Given the description of an element on the screen output the (x, y) to click on. 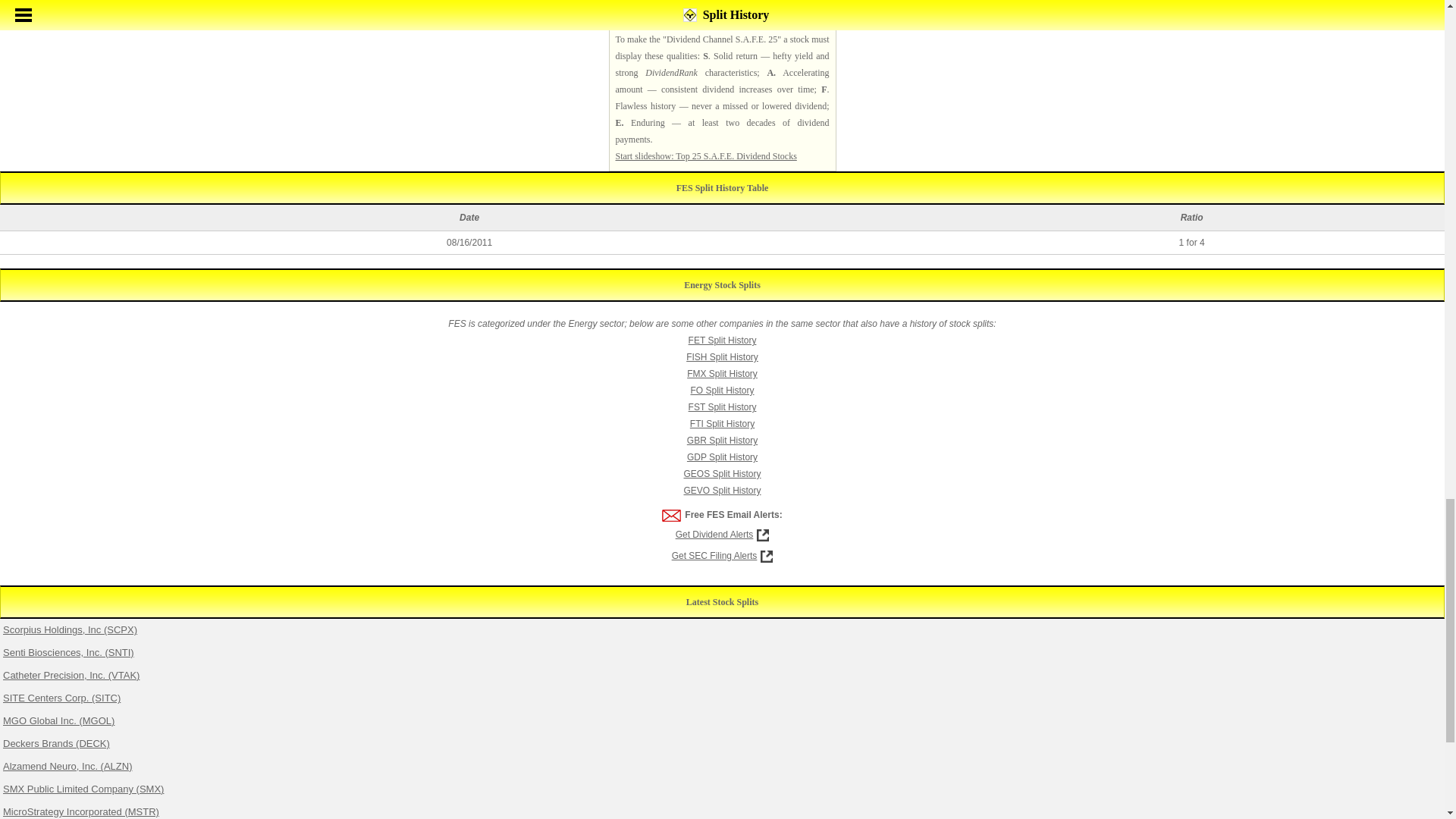
FMX Split History (722, 373)
FET Split History (722, 339)
DividendRank (671, 72)
FISH Split History (721, 357)
Start slideshow: Top 25 S.A.F.E. Dividend Stocks (705, 155)
FO Split History (722, 389)
